Given the description of an element on the screen output the (x, y) to click on. 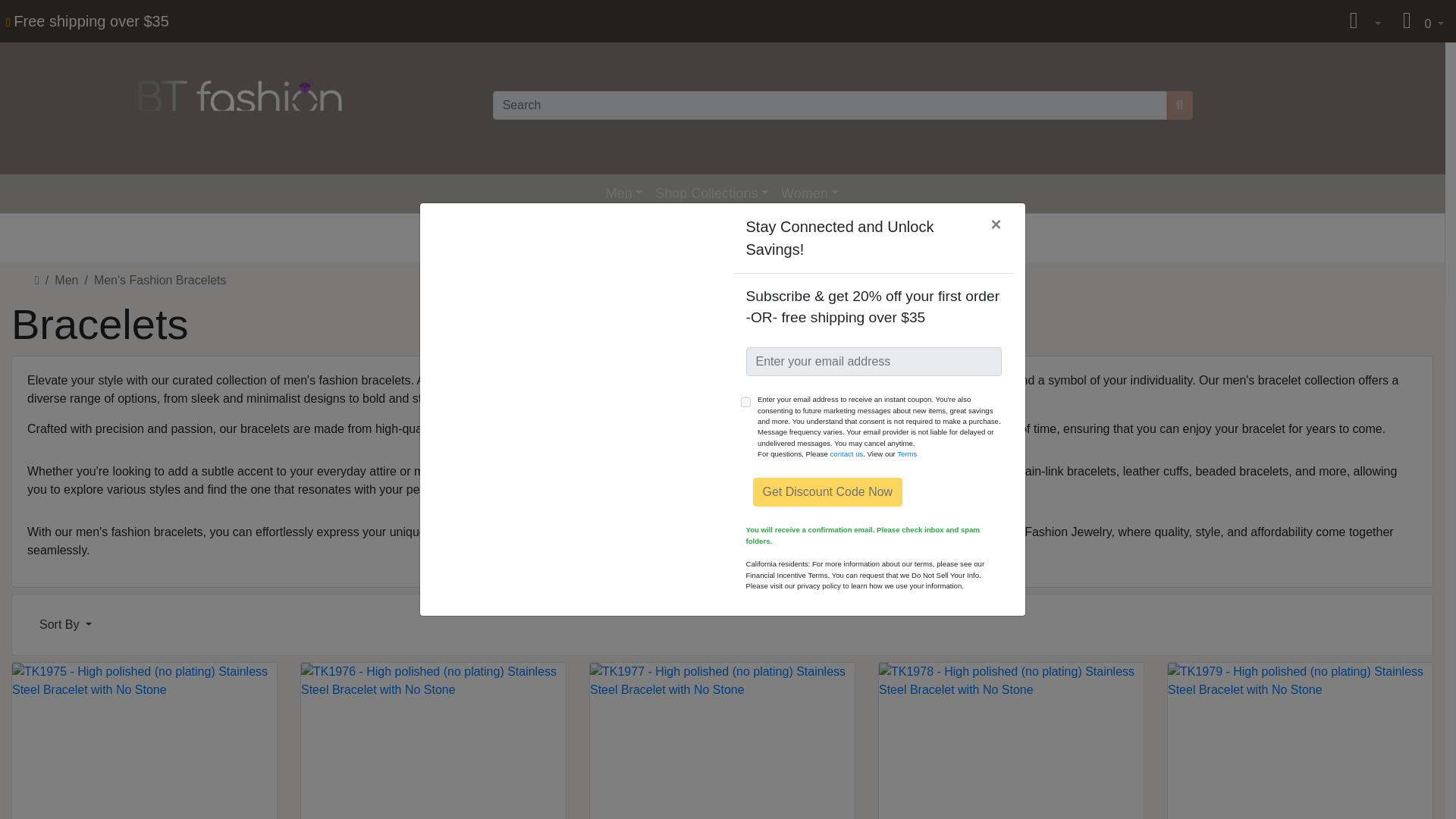
Men (624, 193)
Men (66, 279)
1 (746, 402)
Sort By (65, 624)
My Profile (1353, 20)
Shop Collections (711, 193)
Men's Fashion Bracelets (160, 279)
Women (809, 193)
BT Fashion Jewelry (240, 105)
0 (1418, 21)
